Given the description of an element on the screen output the (x, y) to click on. 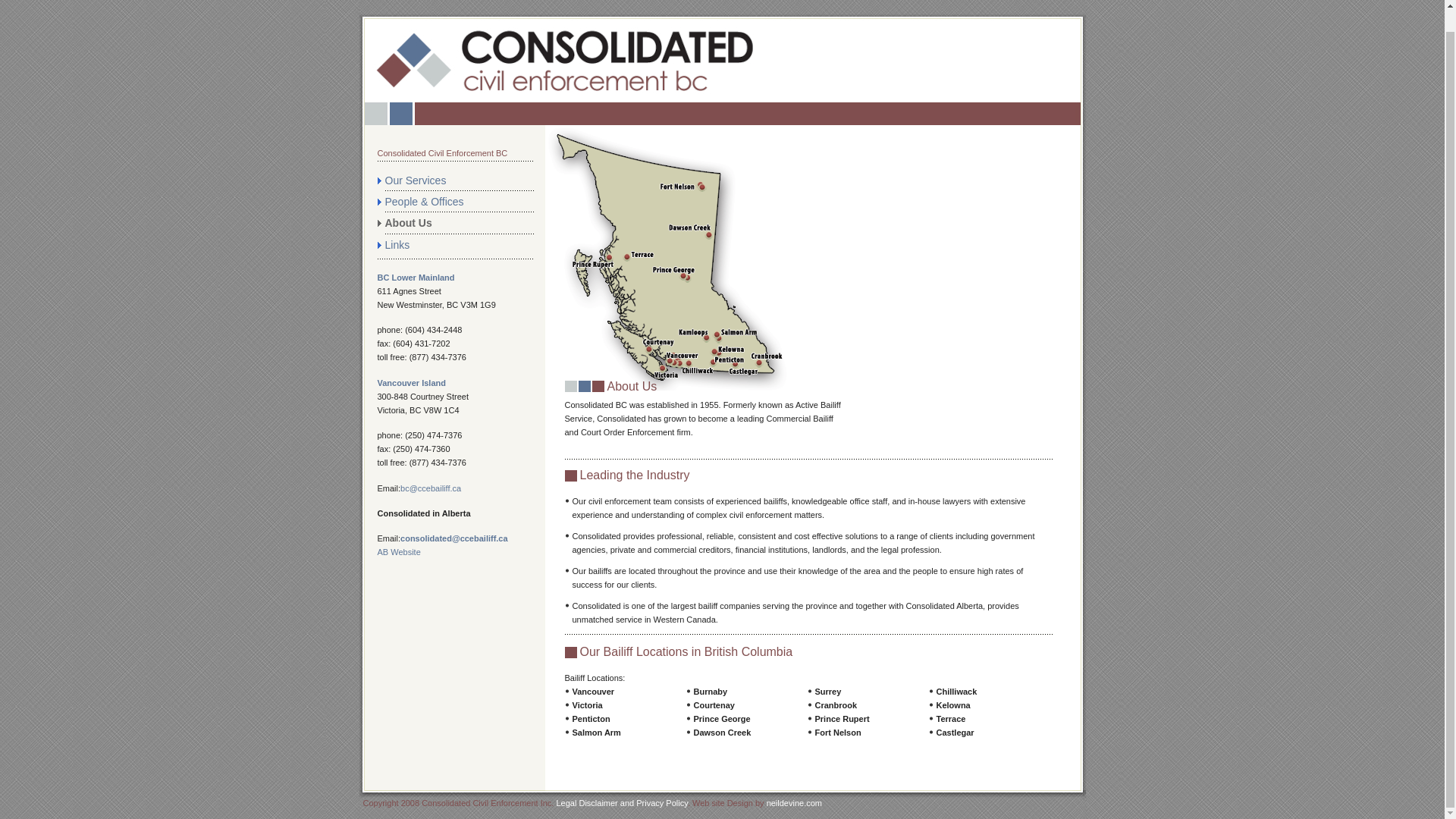
neildevine.com (794, 801)
Our Services (459, 179)
Links (459, 244)
About Us (459, 222)
AB Website (398, 551)
Legal Disclaimer and Privacy Policy (621, 801)
Consolidated Civil Enforcement BC (442, 153)
